Given the description of an element on the screen output the (x, y) to click on. 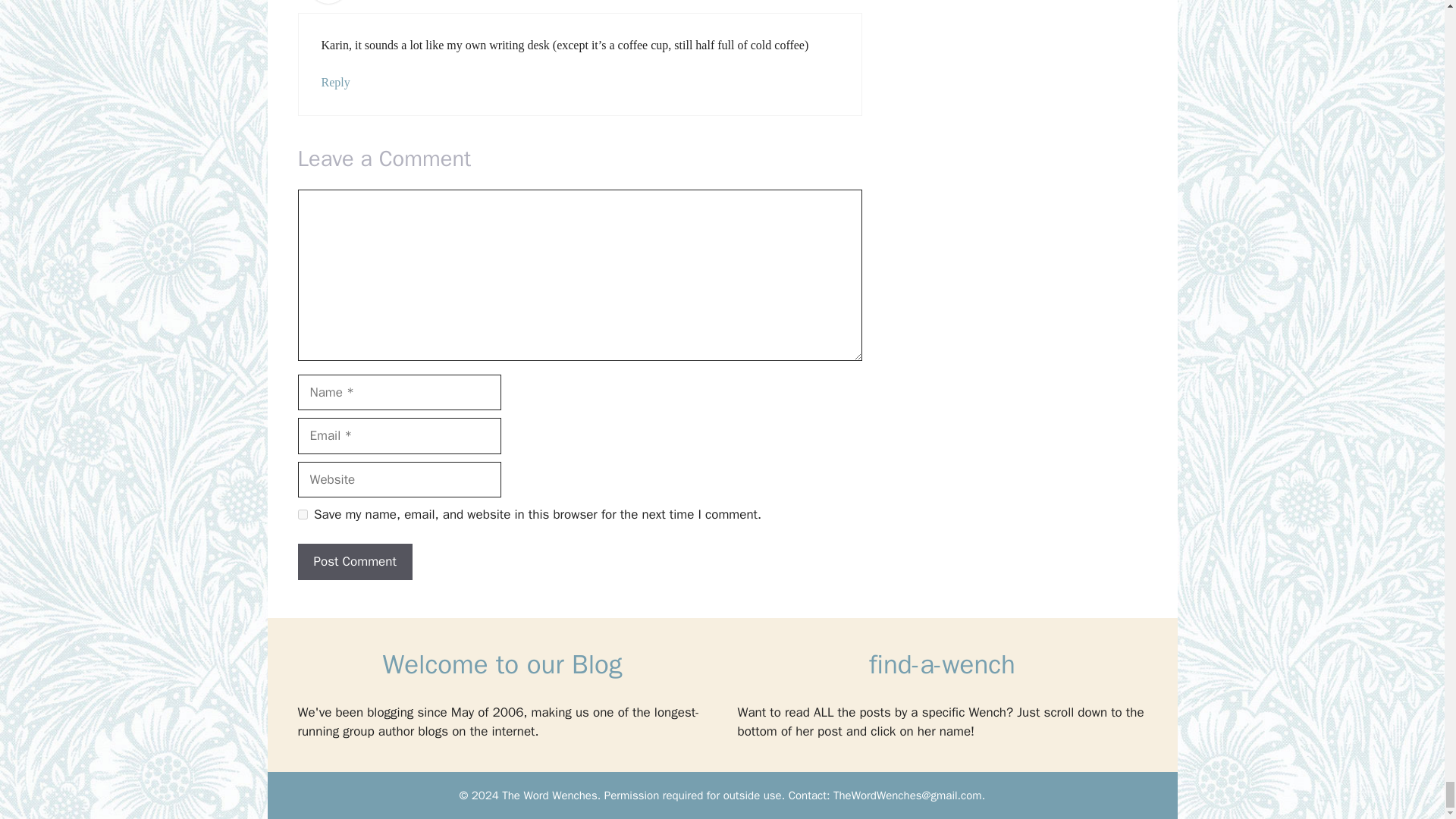
yes (302, 514)
Post Comment (354, 561)
